Given the description of an element on the screen output the (x, y) to click on. 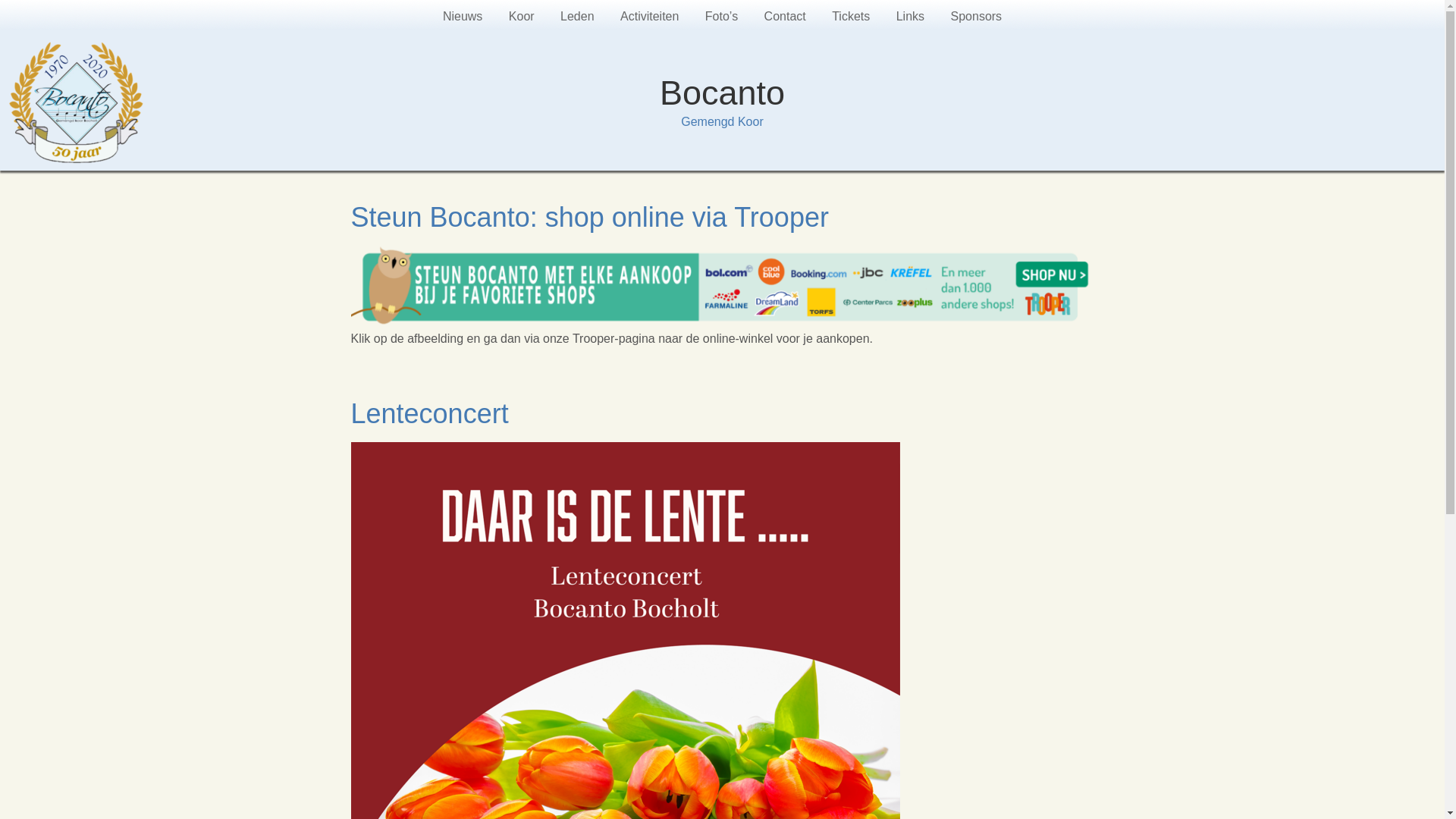
Tickets Element type: text (850, 16)
Contact Element type: text (785, 16)
Koor Element type: text (521, 16)
Bocanto Element type: text (721, 92)
Links Element type: text (909, 16)
Steun Bocanto: shop online via Trooper Element type: text (589, 216)
Leden Element type: text (577, 16)
Sponsors Element type: text (976, 16)
Activiteiten Element type: text (649, 16)
Lenteconcert Element type: text (429, 413)
Nieuws Element type: text (462, 16)
